Given the description of an element on the screen output the (x, y) to click on. 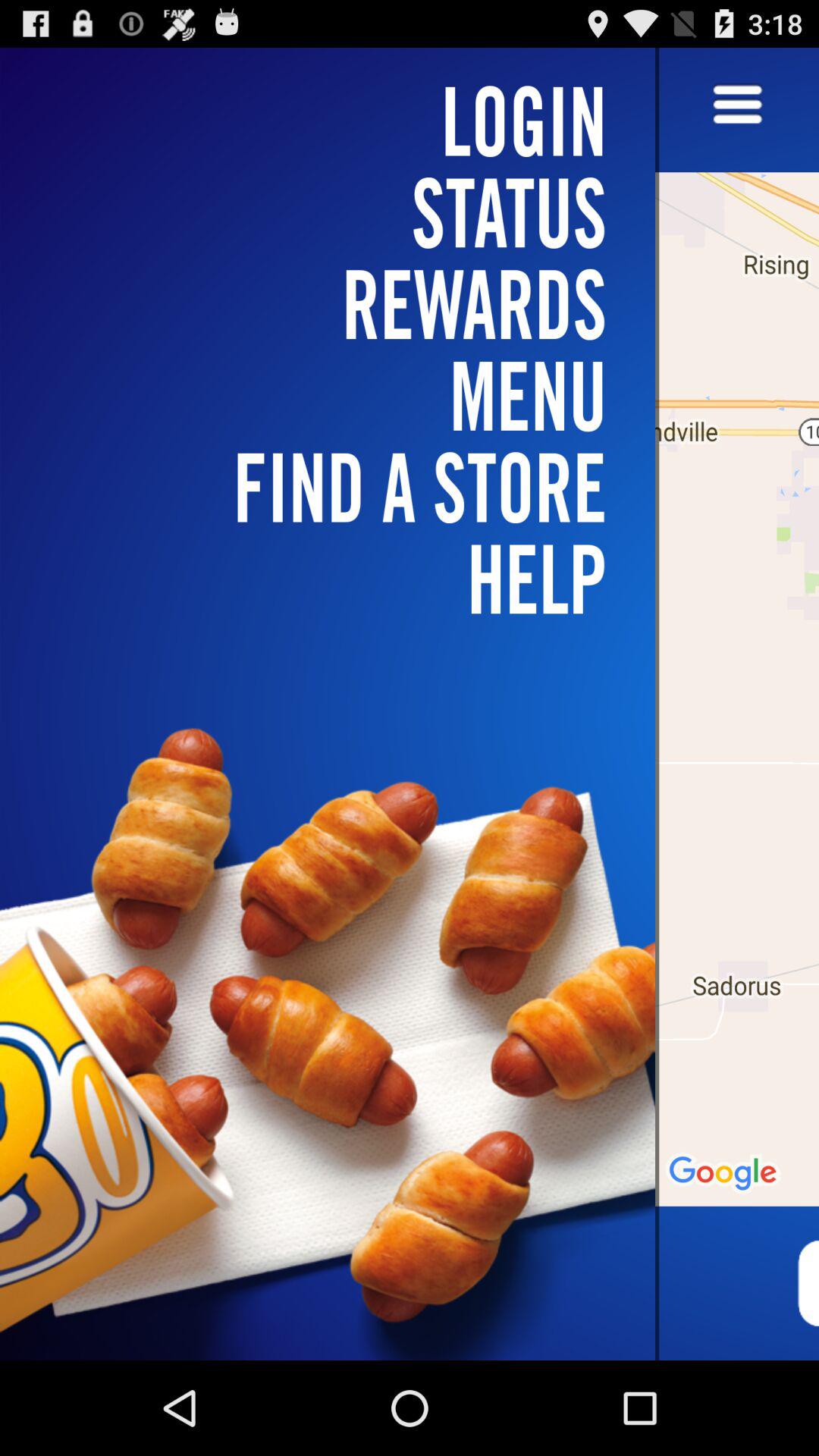
tap item above find a store icon (336, 303)
